Given the description of an element on the screen output the (x, y) to click on. 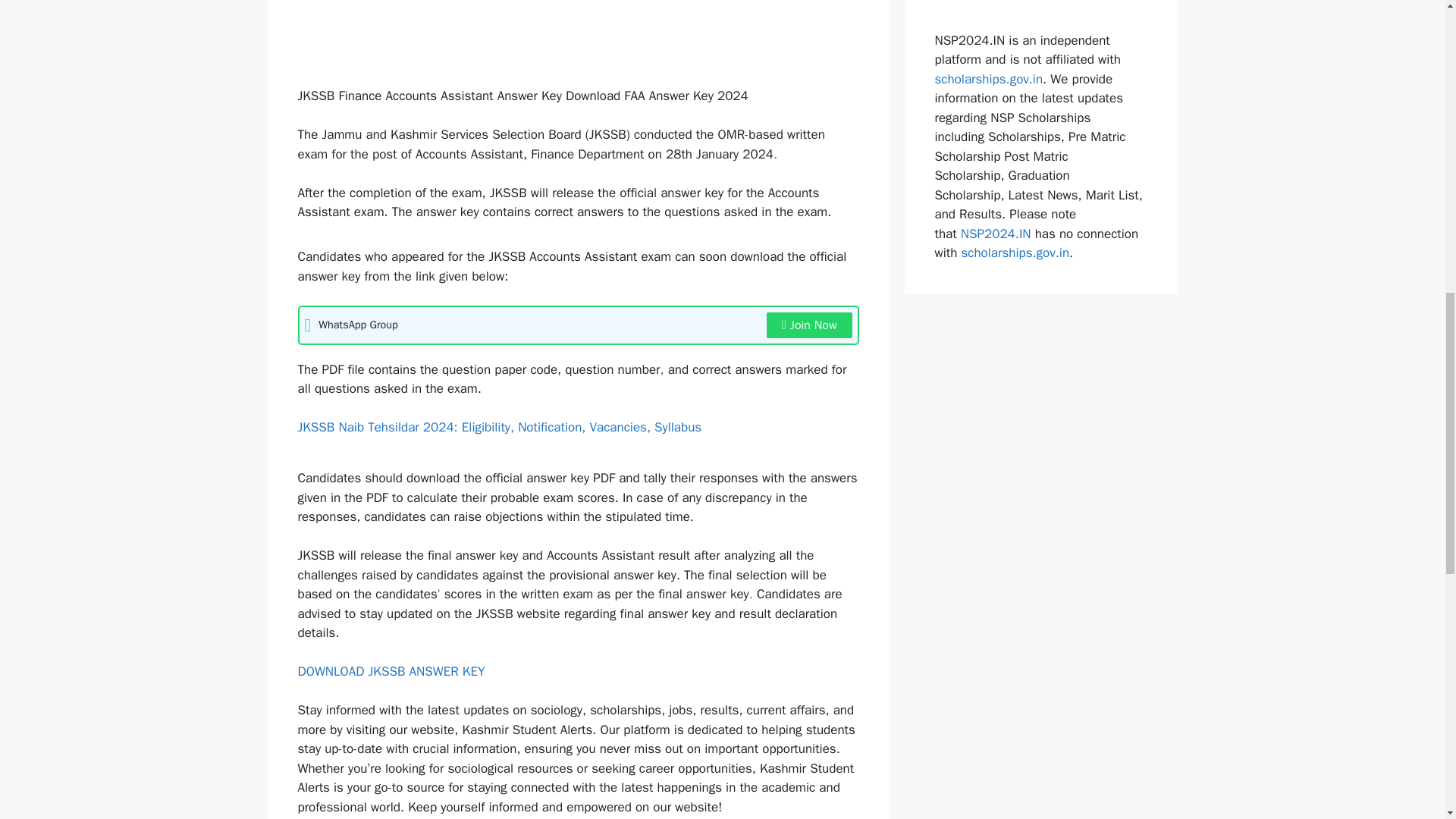
Advertisement (578, 40)
Join Now (809, 325)
DOWNLOAD JKSSB ANSWER KEY (390, 671)
